Given the description of an element on the screen output the (x, y) to click on. 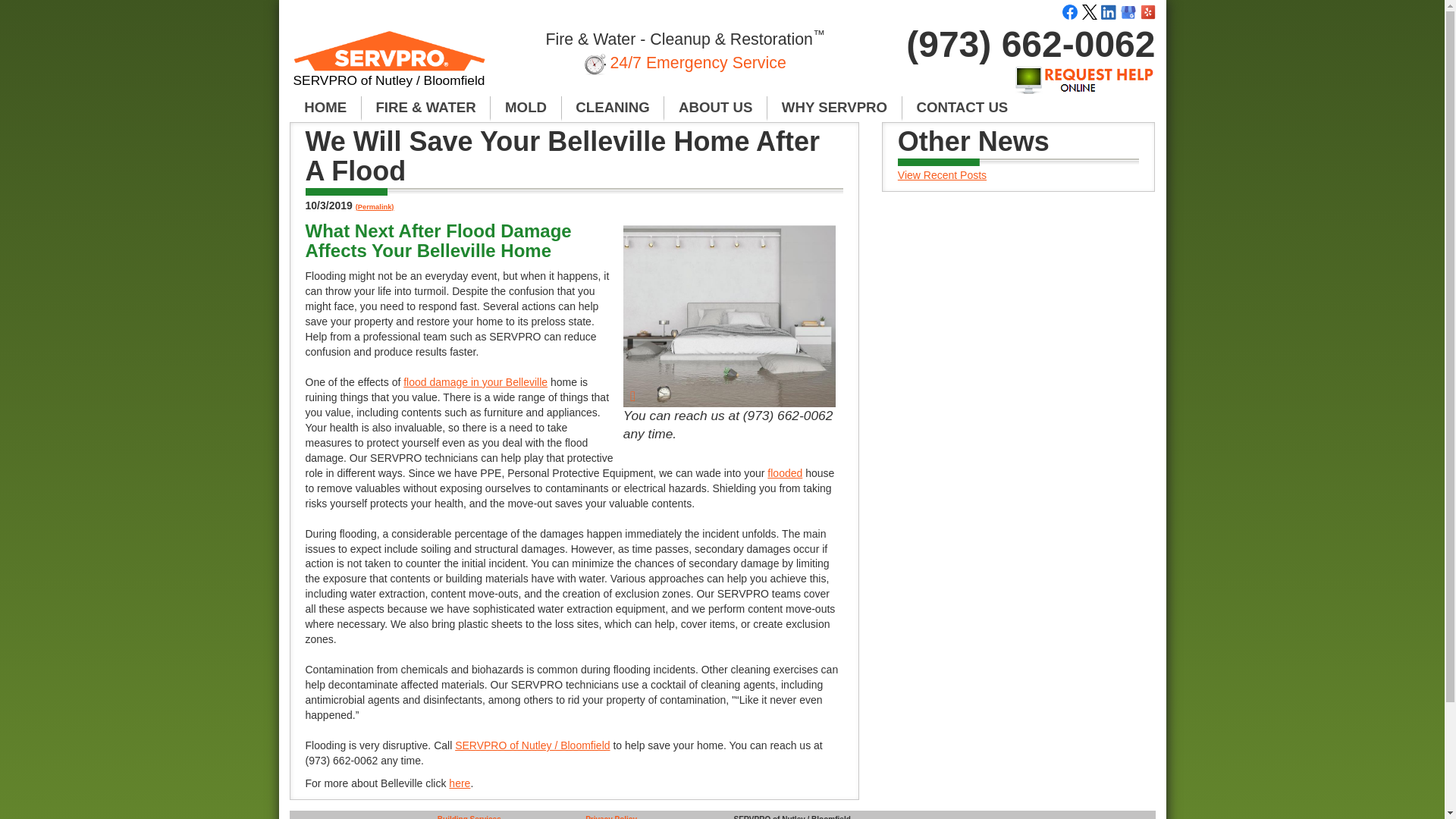
CLEANING (613, 108)
ABOUT US (715, 108)
HOME (325, 108)
MOLD (525, 108)
